Given the description of an element on the screen output the (x, y) to click on. 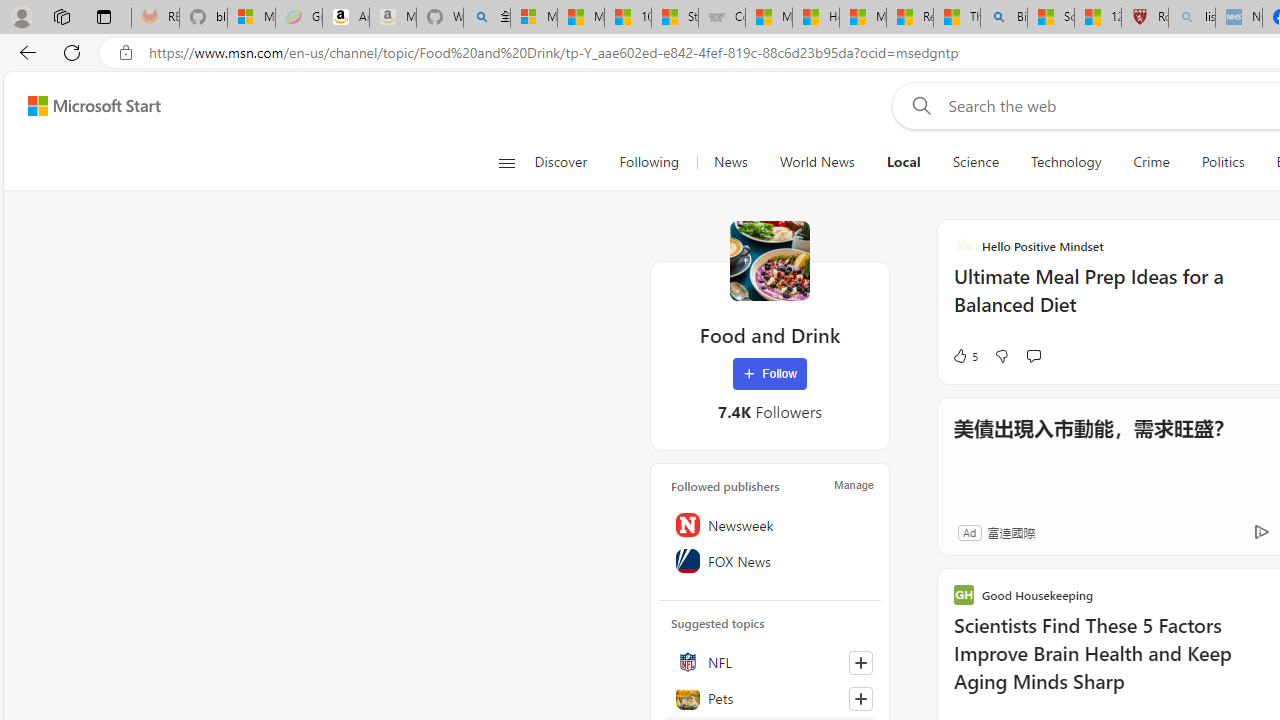
Robert H. Shmerling, MD - Harvard Health (1145, 17)
Skip to footer (82, 105)
Recipes - MSN (910, 17)
Follow this topic (860, 698)
Open navigation menu (506, 162)
World News (816, 162)
Follow this topic (860, 698)
Technology (1066, 162)
Crime (1151, 162)
Stocks - MSN (674, 17)
